Given the description of an element on the screen output the (x, y) to click on. 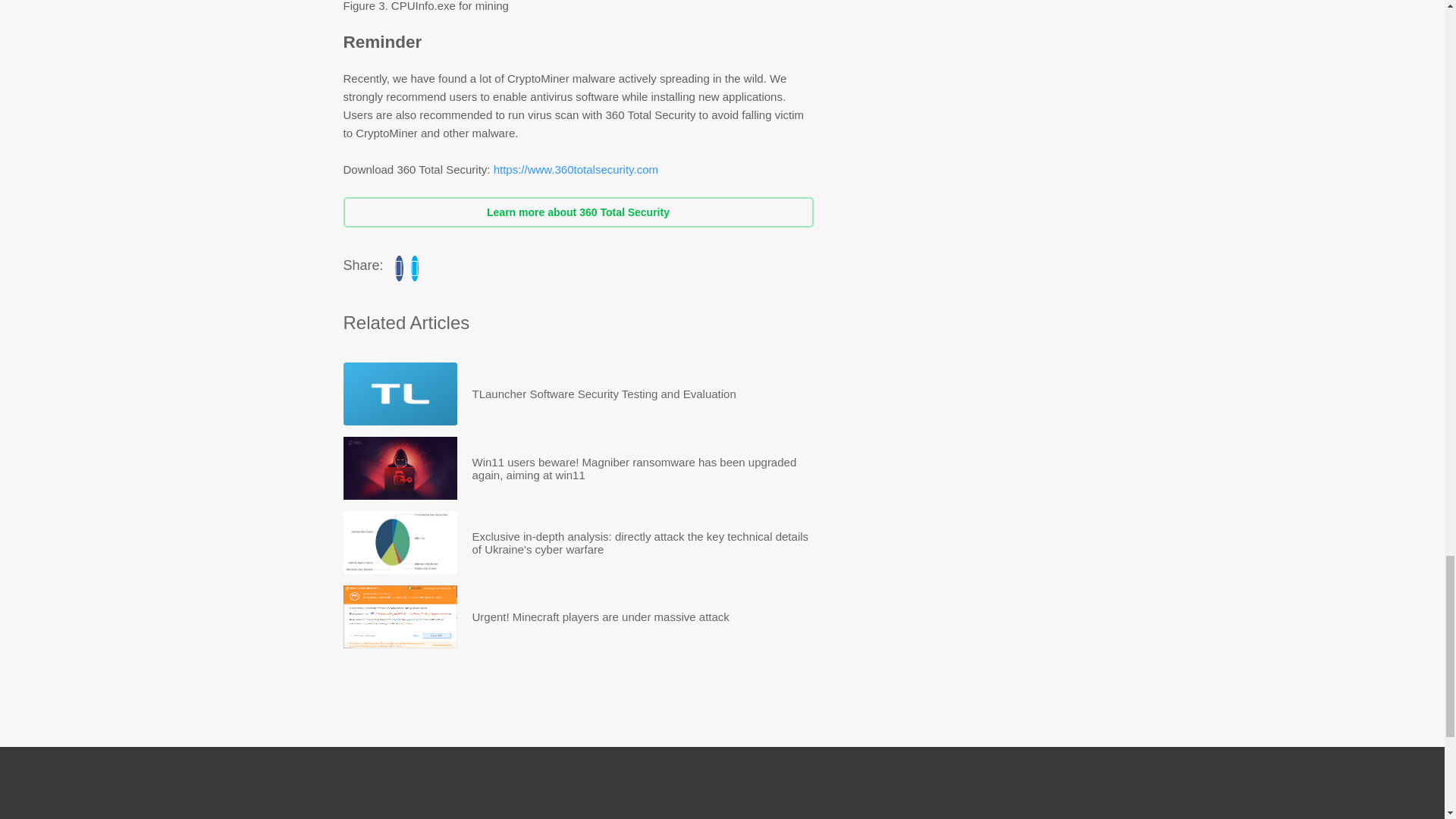
Learn more about 360 Total Security (577, 212)
TLauncher Software Security Testing and Evaluation (603, 393)
Urgent! Minecraft players are under massive attack (600, 616)
Urgent! Minecraft players are under massive attack (399, 616)
TLauncher Software Security Testing and Evaluation (603, 393)
Learn more about 360 Total Security (577, 212)
TLauncher Software Security Testing and Evaluation (399, 393)
Urgent! Minecraft players are under massive attack (600, 616)
